Given the description of an element on the screen output the (x, y) to click on. 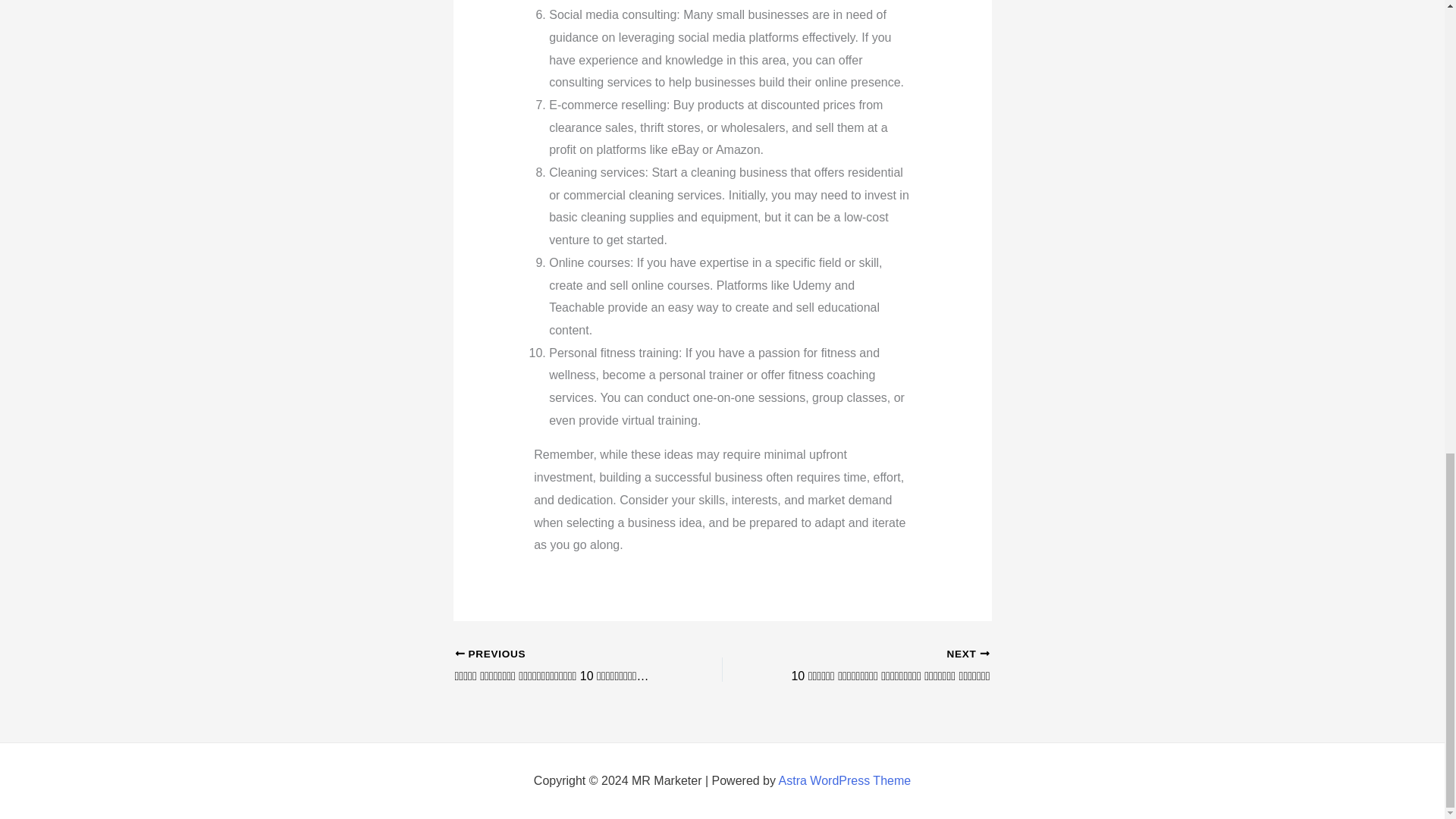
Astra WordPress Theme (844, 780)
